Given the description of an element on the screen output the (x, y) to click on. 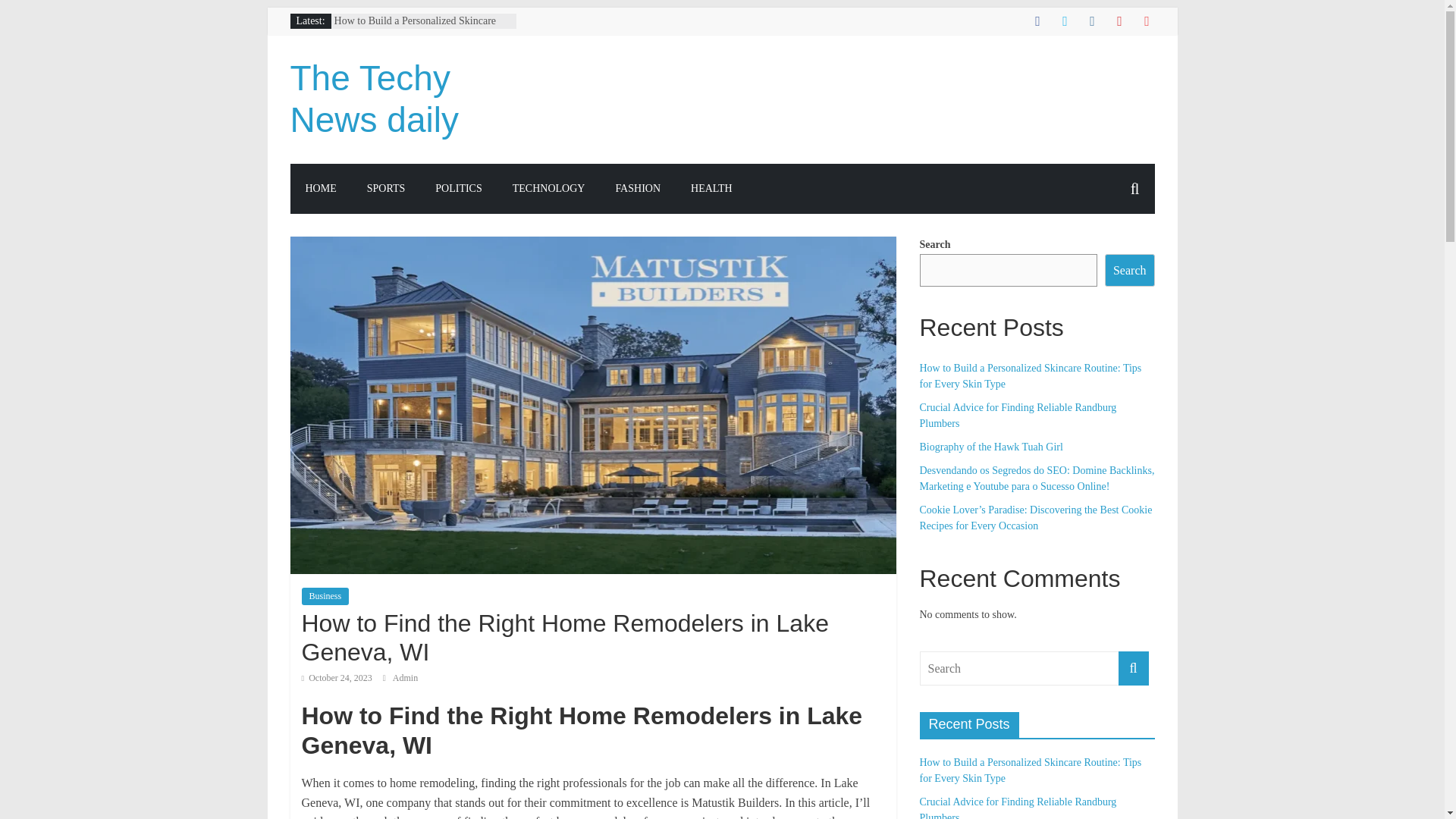
HEALTH (711, 188)
3:17 pm (336, 677)
POLITICS (458, 188)
Business (325, 596)
The Techy News daily (373, 98)
October 24, 2023 (336, 677)
Crucial Advice for Finding Reliable Randburg Plumbers (1017, 415)
FASHION (637, 188)
Biography of the Hawk Tuah Girl (990, 446)
Search (1129, 270)
Crucial Advice for Finding Reliable Randburg Plumbers (1017, 807)
The Techy News daily (373, 98)
